Given the description of an element on the screen output the (x, y) to click on. 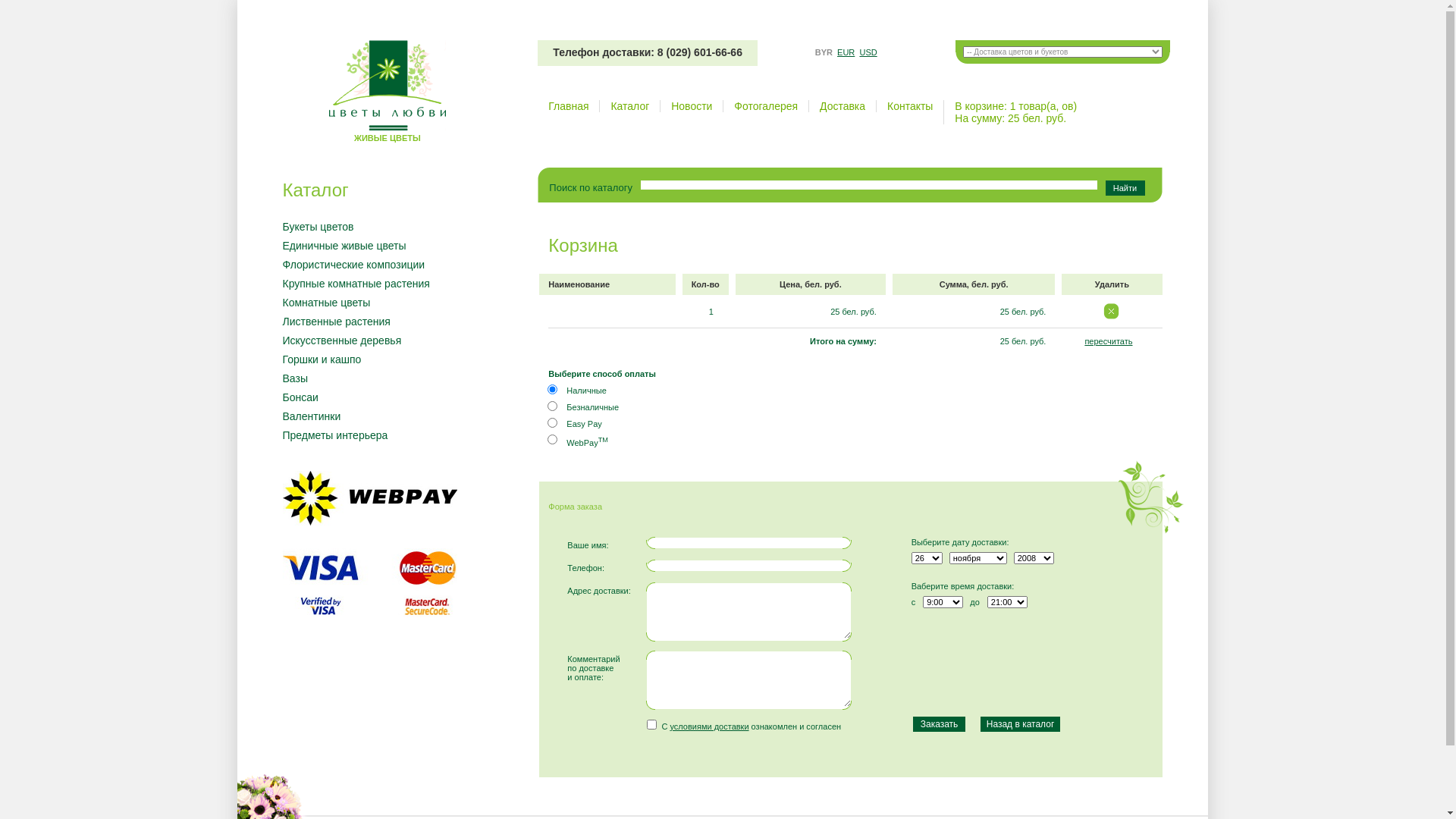
EUR Element type: text (845, 51)
USD Element type: text (867, 51)
webpay Element type: text (552, 439)
cash Element type: text (552, 389)
X Element type: hover (1111, 311)
easypay Element type: text (552, 422)
digit Element type: text (552, 406)
